Given the description of an element on the screen output the (x, y) to click on. 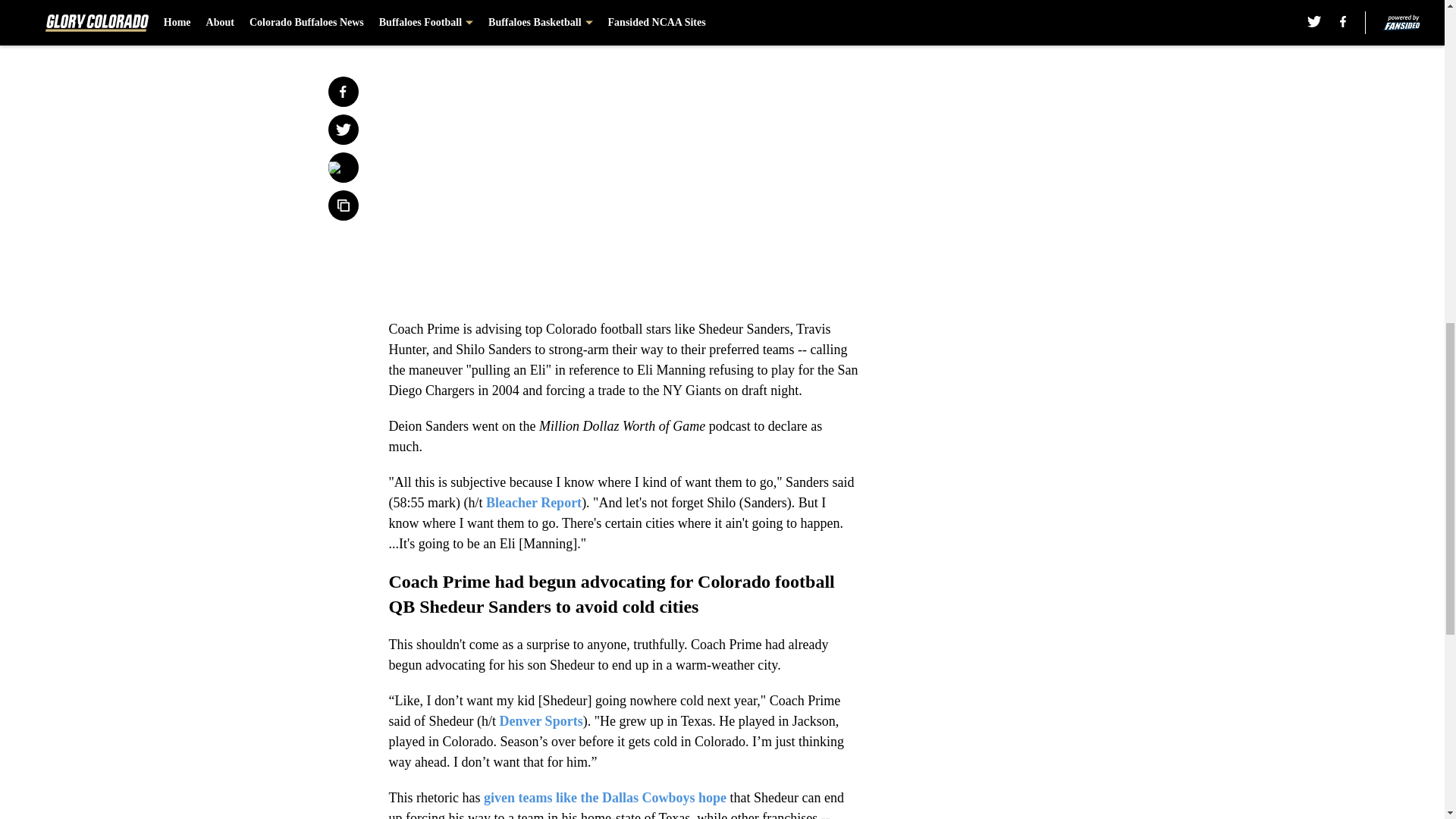
Denver Sports (540, 720)
given teams like the Dallas Cowboys hope (604, 797)
Bleacher Report (533, 502)
